Given the description of an element on the screen output the (x, y) to click on. 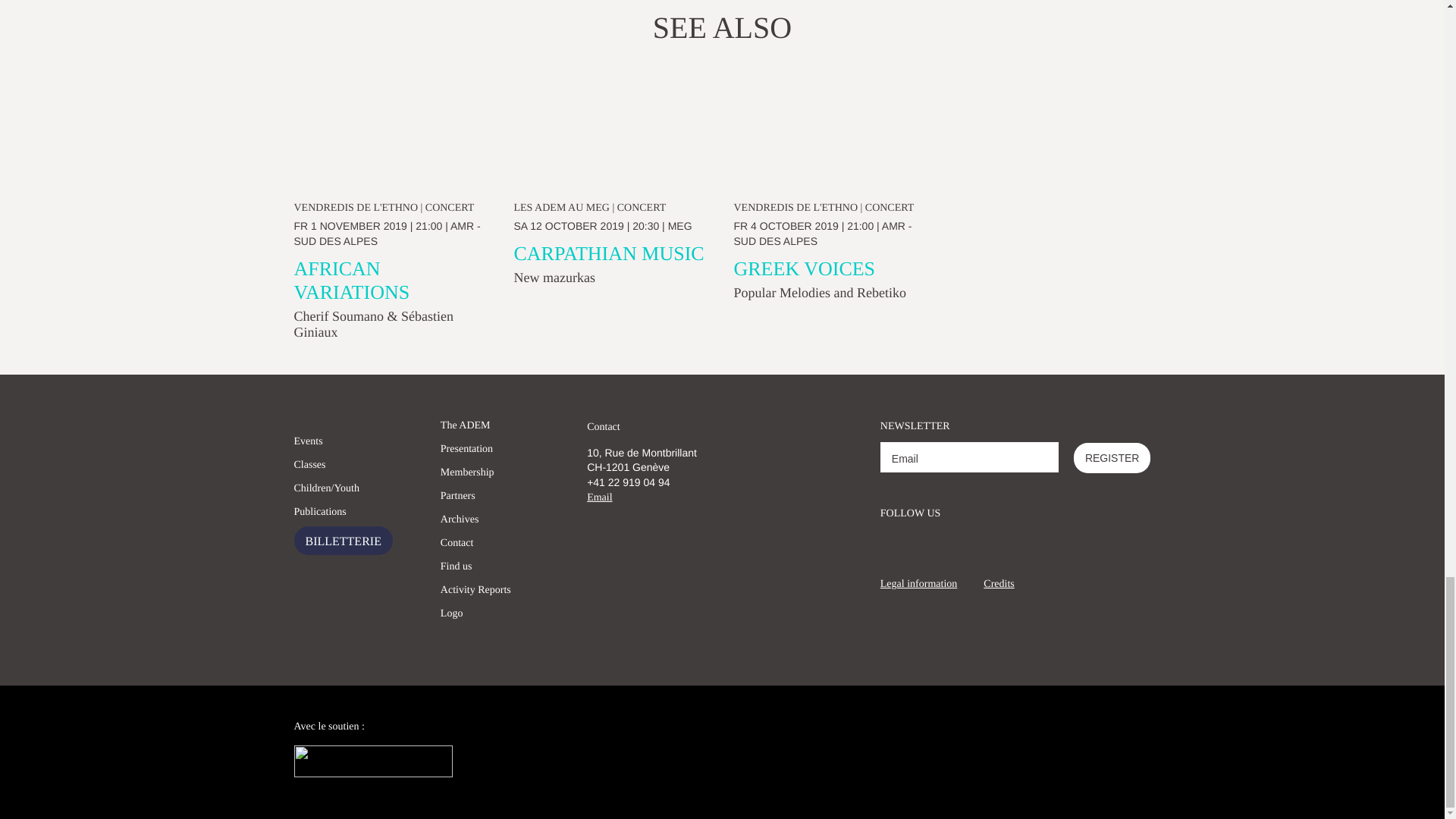
Membership (468, 476)
Events (308, 445)
Credits (998, 584)
Find us (456, 570)
Publications (320, 516)
Classes (310, 469)
BILLETTERIE (343, 540)
Legal information (918, 584)
Contact (603, 427)
REGISTER (1112, 458)
Partners (458, 500)
Archives (460, 523)
The ADEM (465, 429)
Logo (452, 618)
Presentation (467, 453)
